Given the description of an element on the screen output the (x, y) to click on. 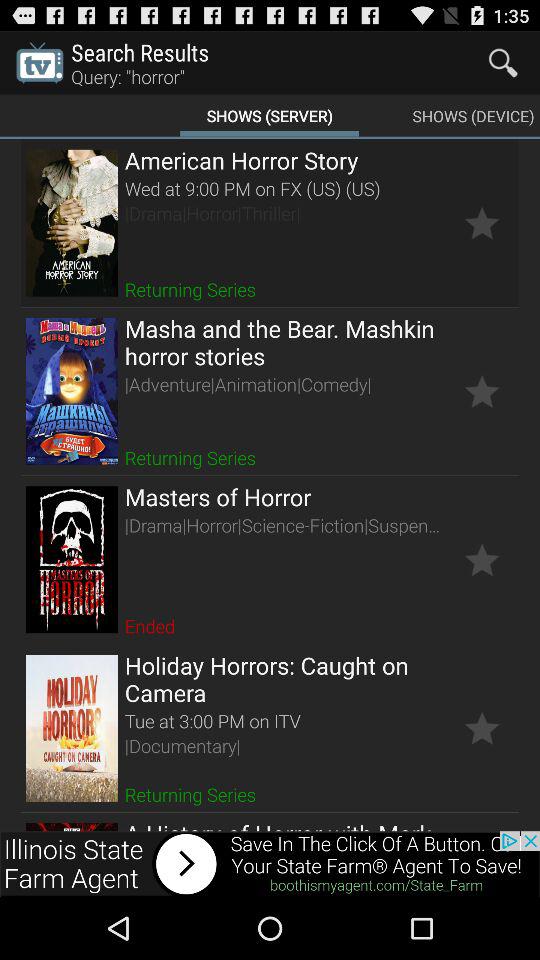
advertisement (270, 864)
